Given the description of an element on the screen output the (x, y) to click on. 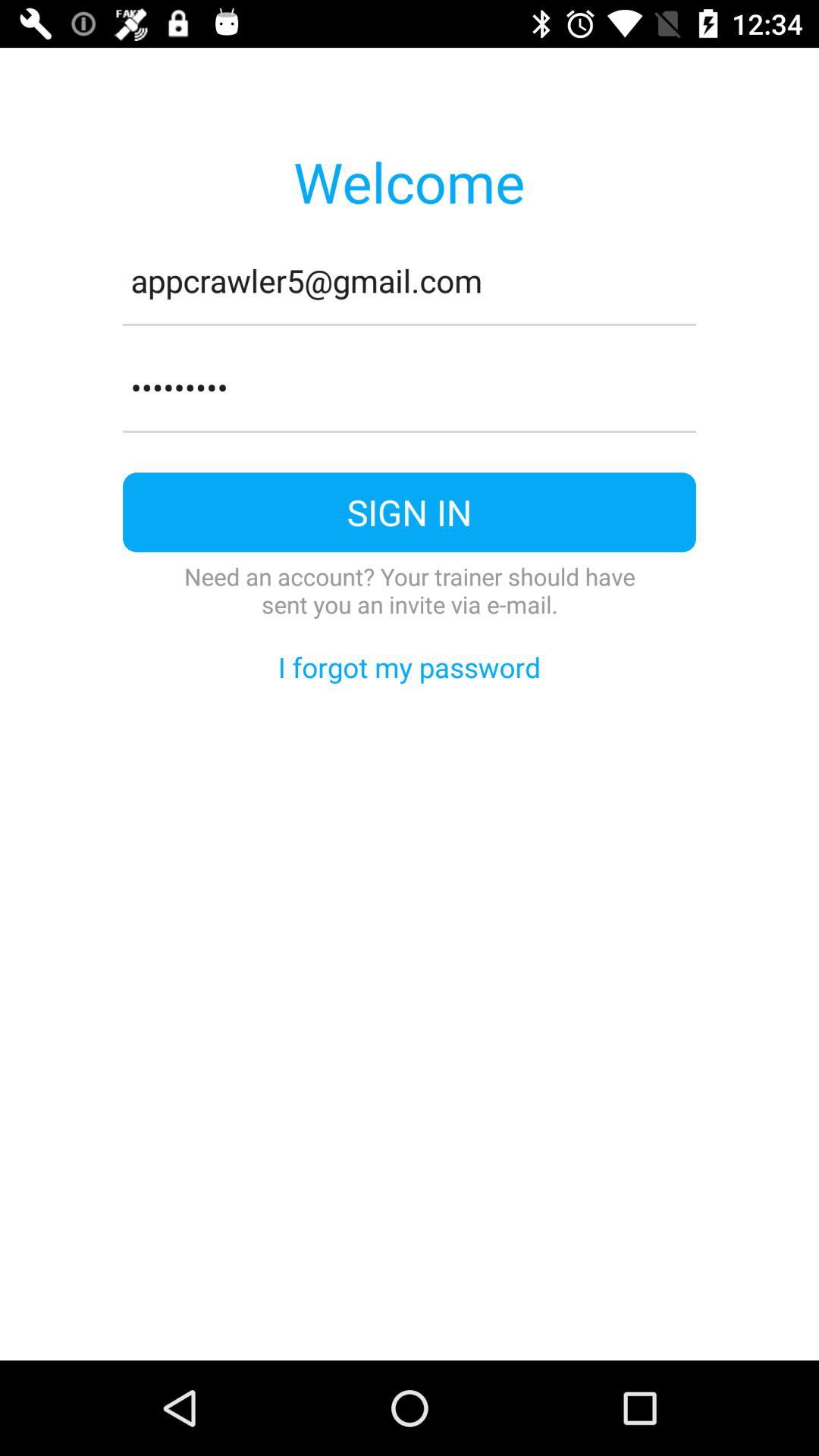
select the item above the i forgot my icon (409, 590)
